Given the description of an element on the screen output the (x, y) to click on. 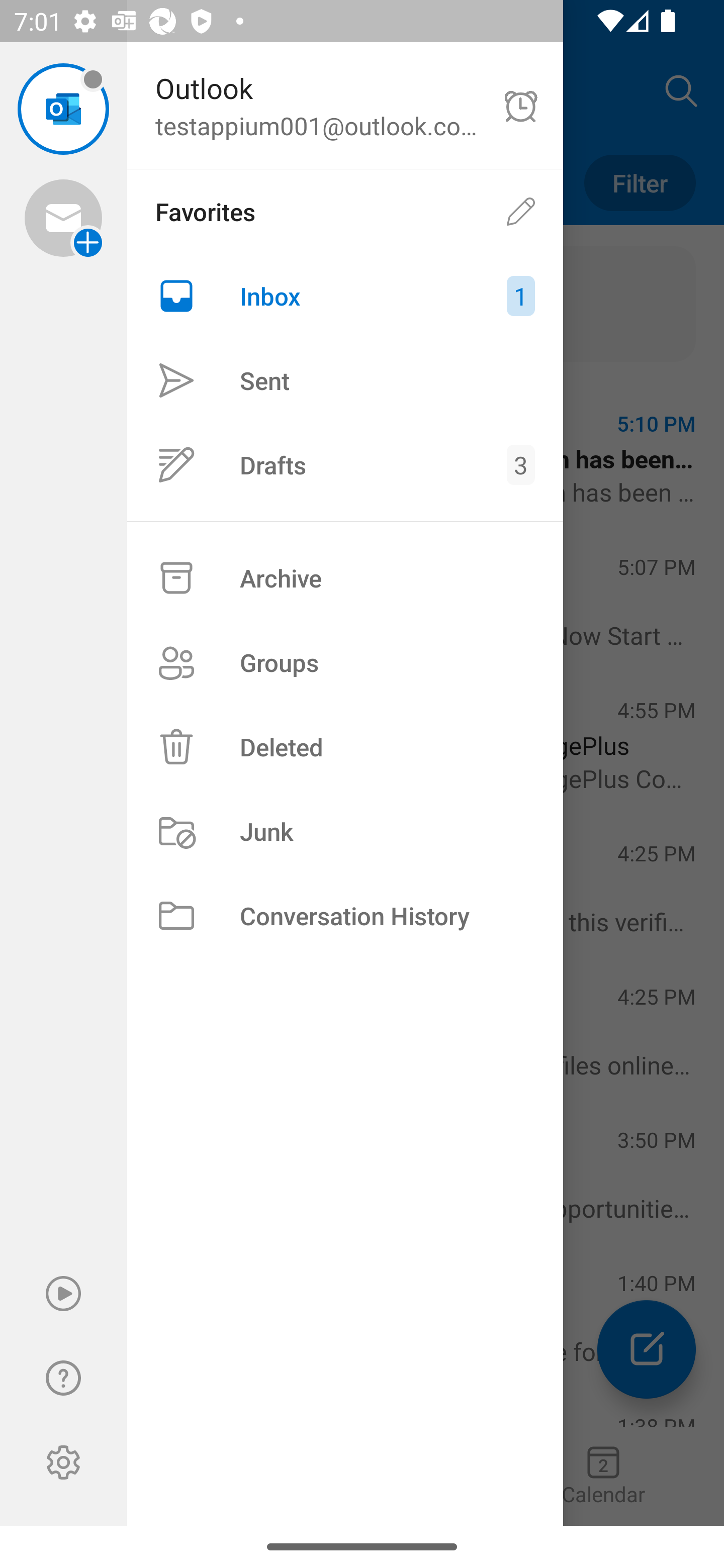
Do not disturb off (520, 105)
testappium001@outlook.com (63, 108)
Edit favorites (520, 211)
Add account (63, 217)
Inbox 1 1 unread email (345, 296)
Sent (345, 380)
Drafts 3 3 unread emails (345, 464)
Archive (345, 578)
Groups (345, 662)
Deleted (345, 746)
Junk (345, 830)
Conversation History (345, 915)
Play My Emails (62, 1293)
Help (62, 1377)
Settings (62, 1462)
